Given the description of an element on the screen output the (x, y) to click on. 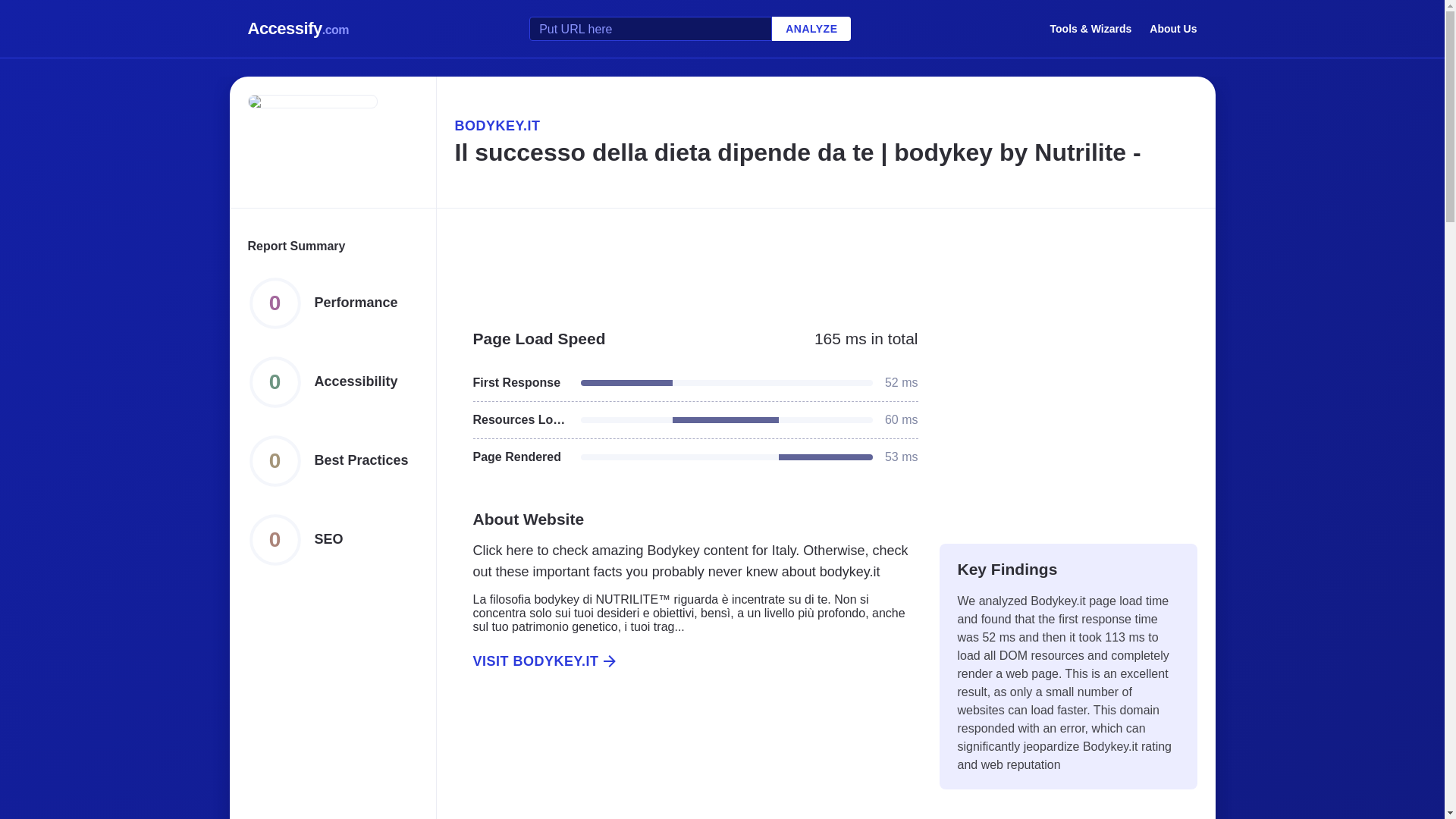
BODYKEY.IT (825, 126)
About Us (1173, 28)
Accessify.com (298, 28)
ANALYZE (810, 28)
VISIT BODYKEY.IT (686, 660)
